Given the description of an element on the screen output the (x, y) to click on. 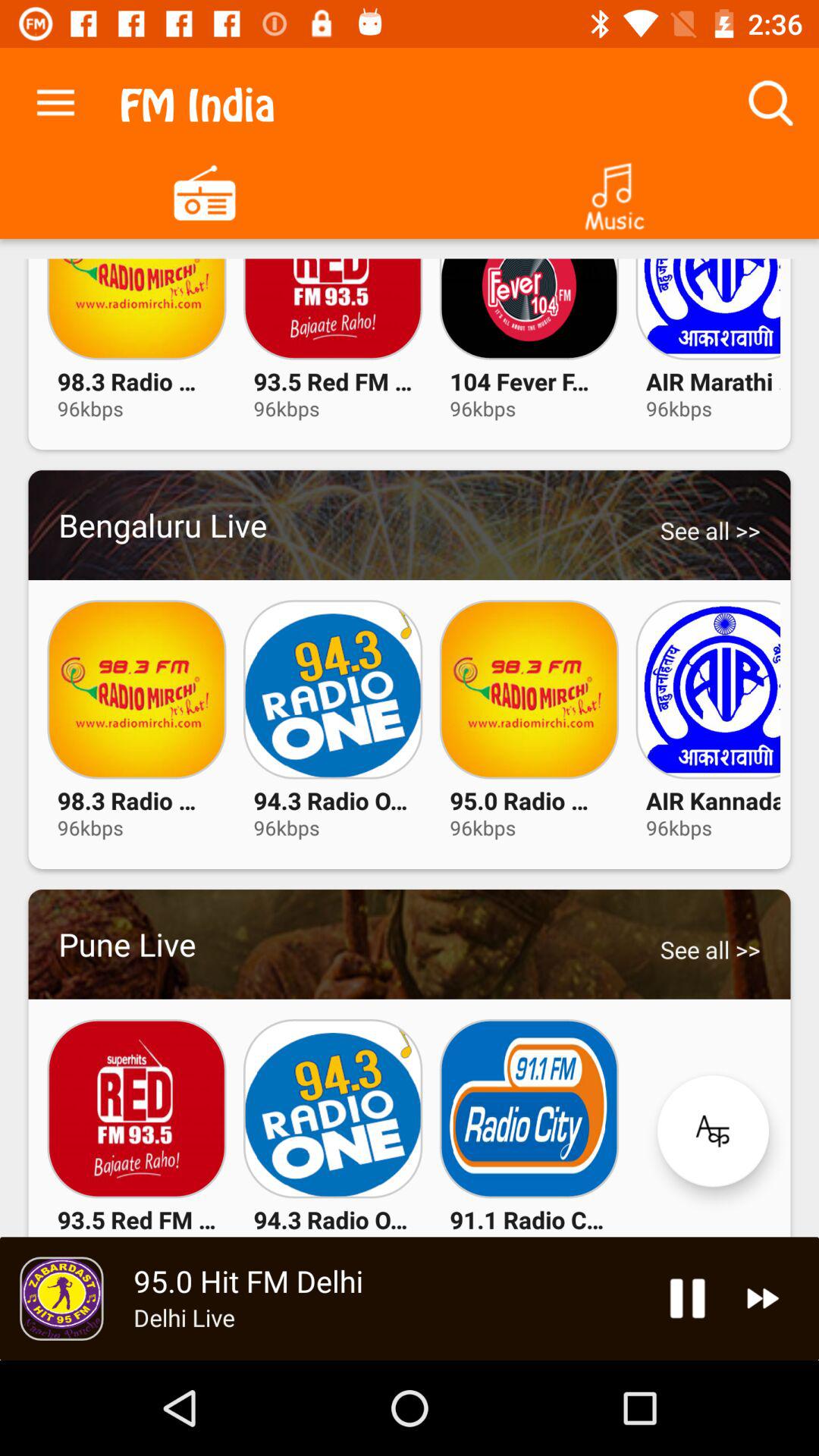
switch music (614, 190)
